Given the description of an element on the screen output the (x, y) to click on. 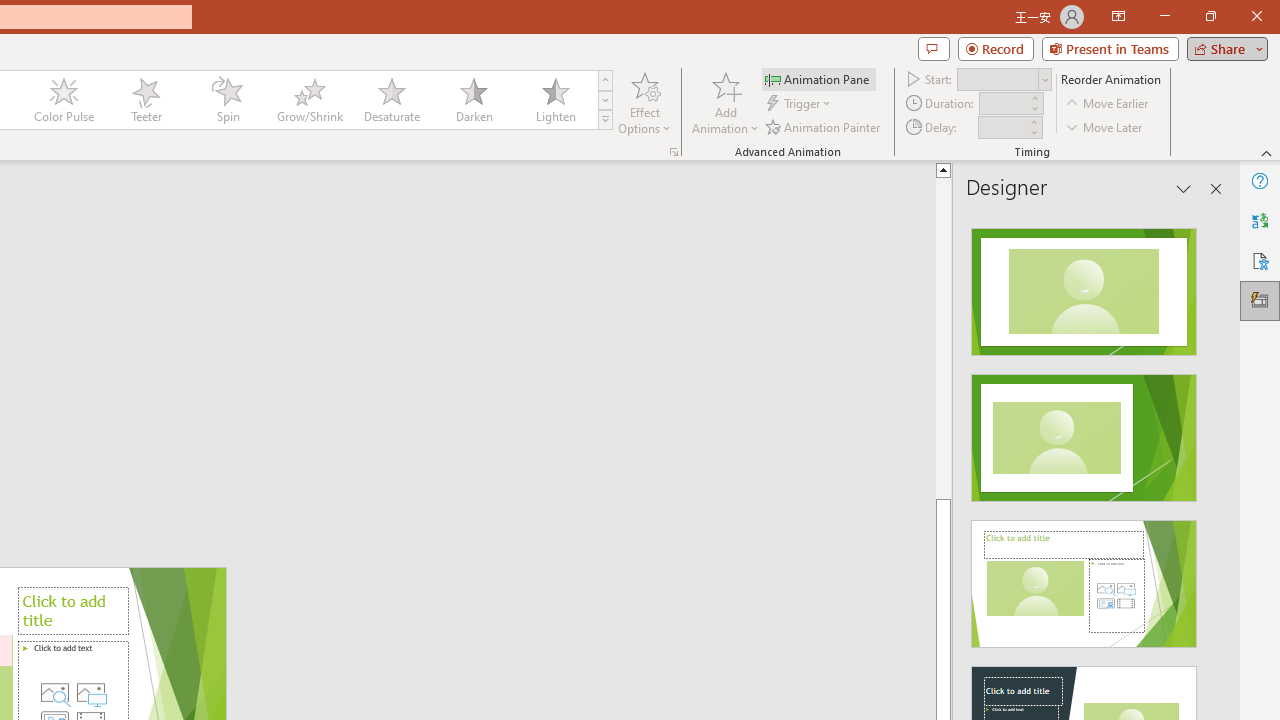
Darken (473, 100)
Animation Delay (1002, 127)
Animation Duration (1003, 103)
Translator (1260, 220)
Page up (1011, 337)
Lighten (555, 100)
Trigger (799, 103)
Add Animation (725, 102)
